Given the description of an element on the screen output the (x, y) to click on. 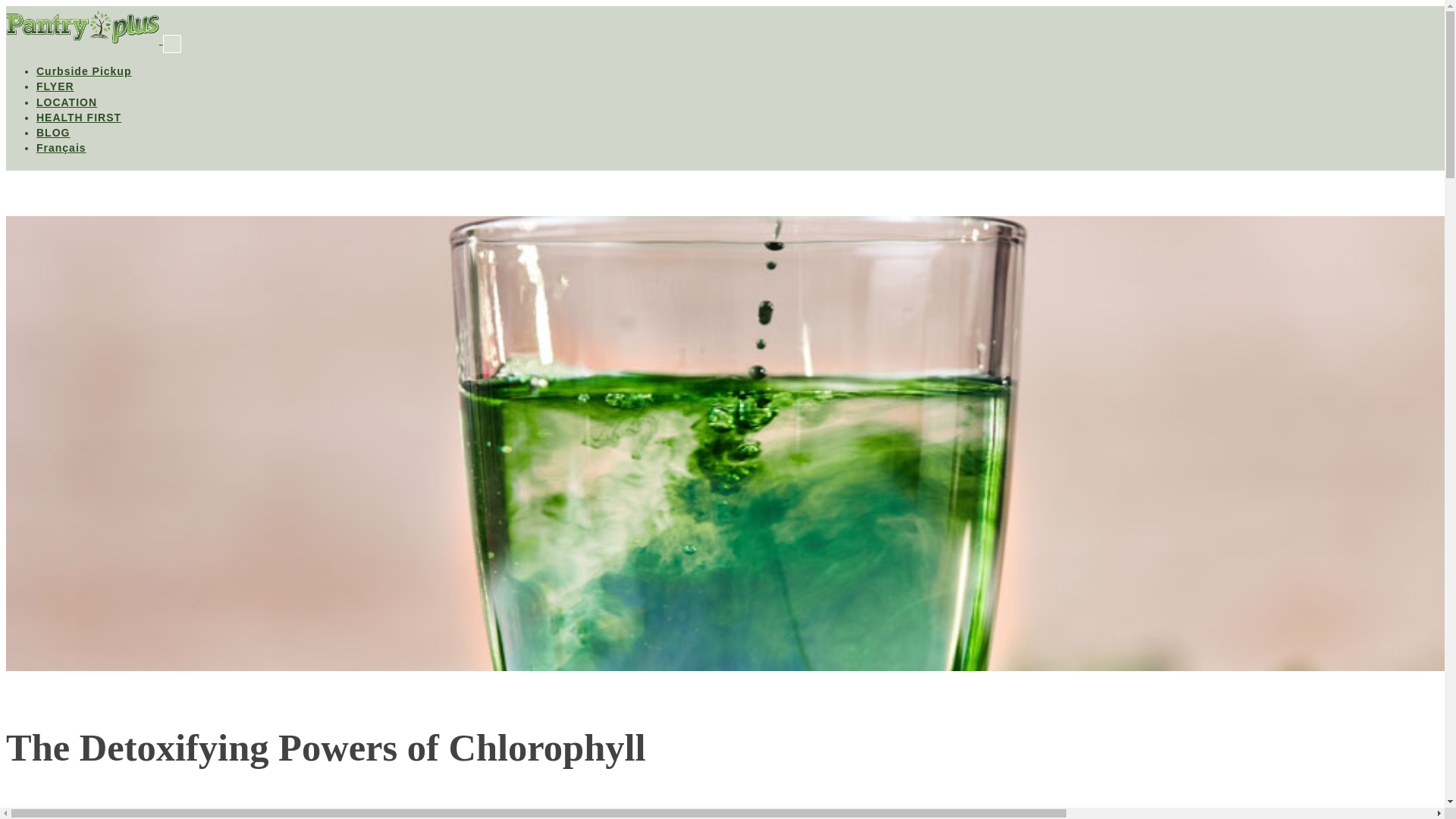
HEALTH FIRST (78, 117)
FLYER (55, 86)
BLOG (52, 132)
Curbside Pickup (83, 70)
LOCATION (66, 102)
LOCATION (66, 102)
BLOG (52, 132)
